Given the description of an element on the screen output the (x, y) to click on. 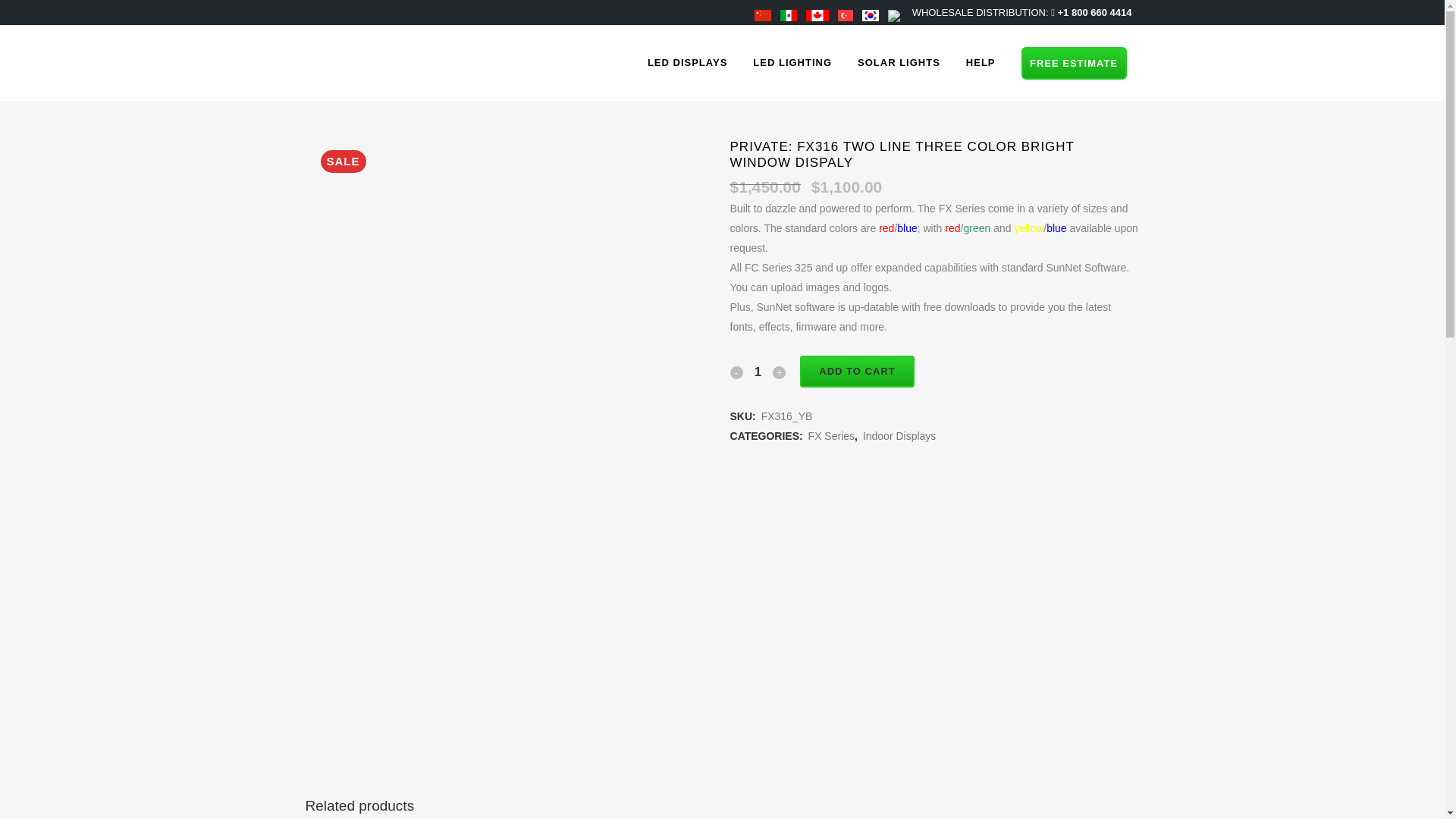
- (736, 371)
1 (757, 371)
FREE ESTIMATE (1072, 62)
LED LIGHTING (791, 62)
LED DISPLAYS (686, 62)
